Given the description of an element on the screen output the (x, y) to click on. 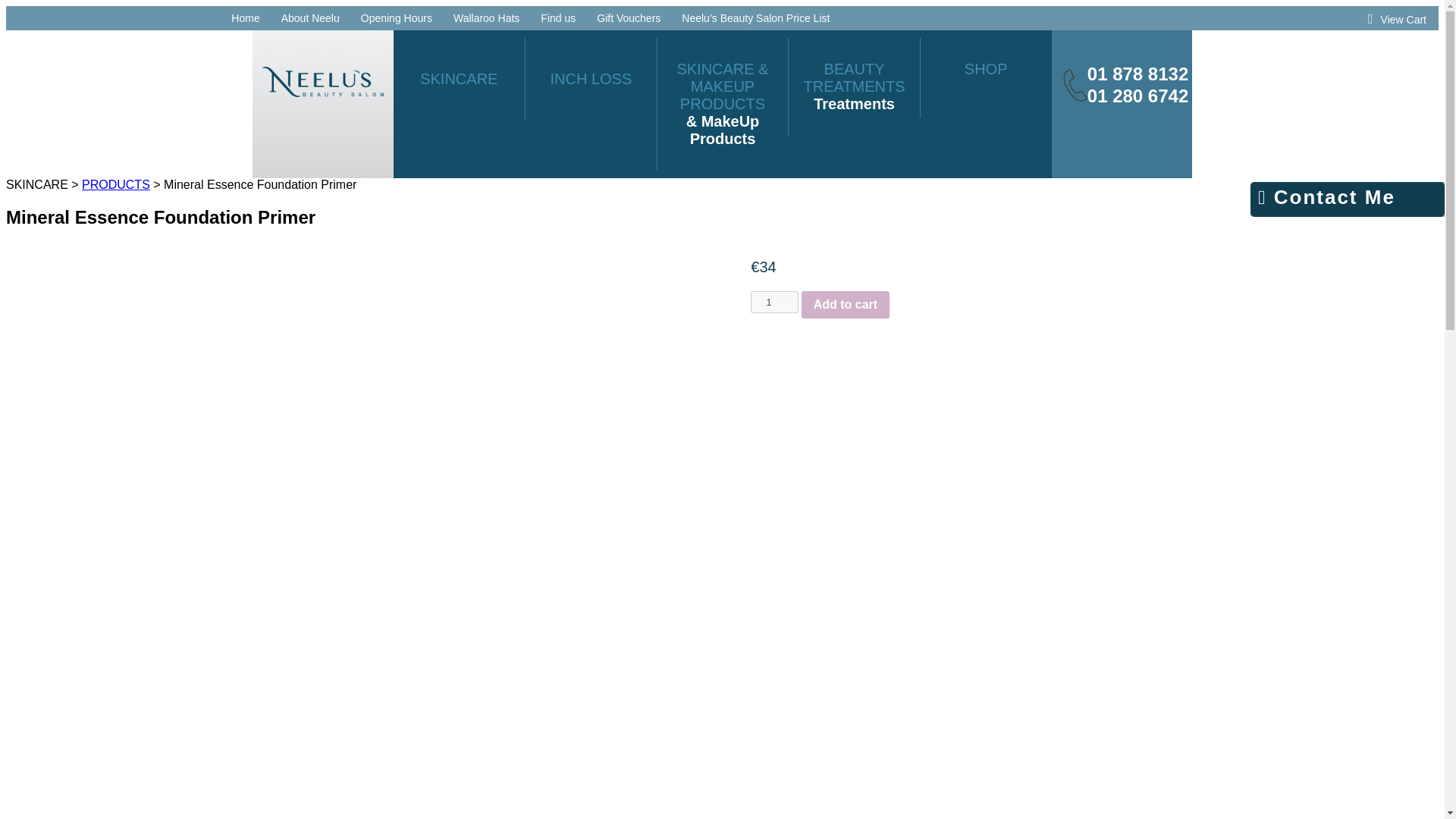
01 280 6742 (1137, 95)
1 (774, 301)
Qty (985, 77)
01 878 8132 (774, 301)
Home (1137, 73)
SKINCARE (245, 18)
Find us (458, 78)
Opening Hours (557, 18)
Gift Vouchers (396, 18)
